Given the description of an element on the screen output the (x, y) to click on. 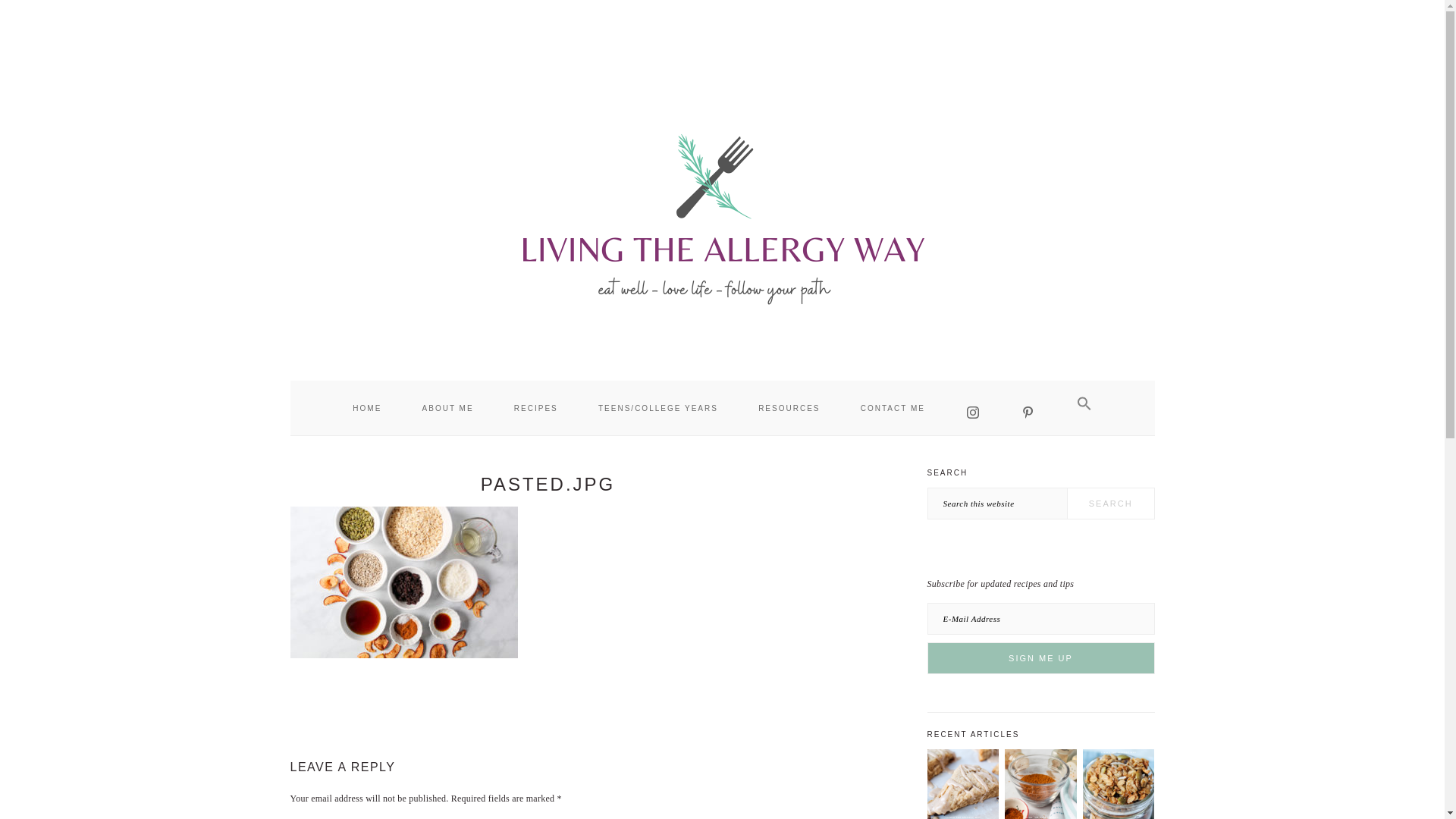
Chai Spice Blend (1040, 815)
RECIPES (535, 408)
Search (1110, 503)
CONTACT ME (892, 408)
ABOUT ME (448, 408)
RESOURCES (788, 408)
HOME (366, 408)
Living The Allergy Way (721, 216)
Vegan Chai Scones with Maple Glaze (962, 815)
Sign Me Up (1040, 658)
Sign Me Up (1040, 658)
Search (1110, 503)
Nut-free Apple Cinnamon Granola (1118, 815)
Search (1110, 503)
